Given the description of an element on the screen output the (x, y) to click on. 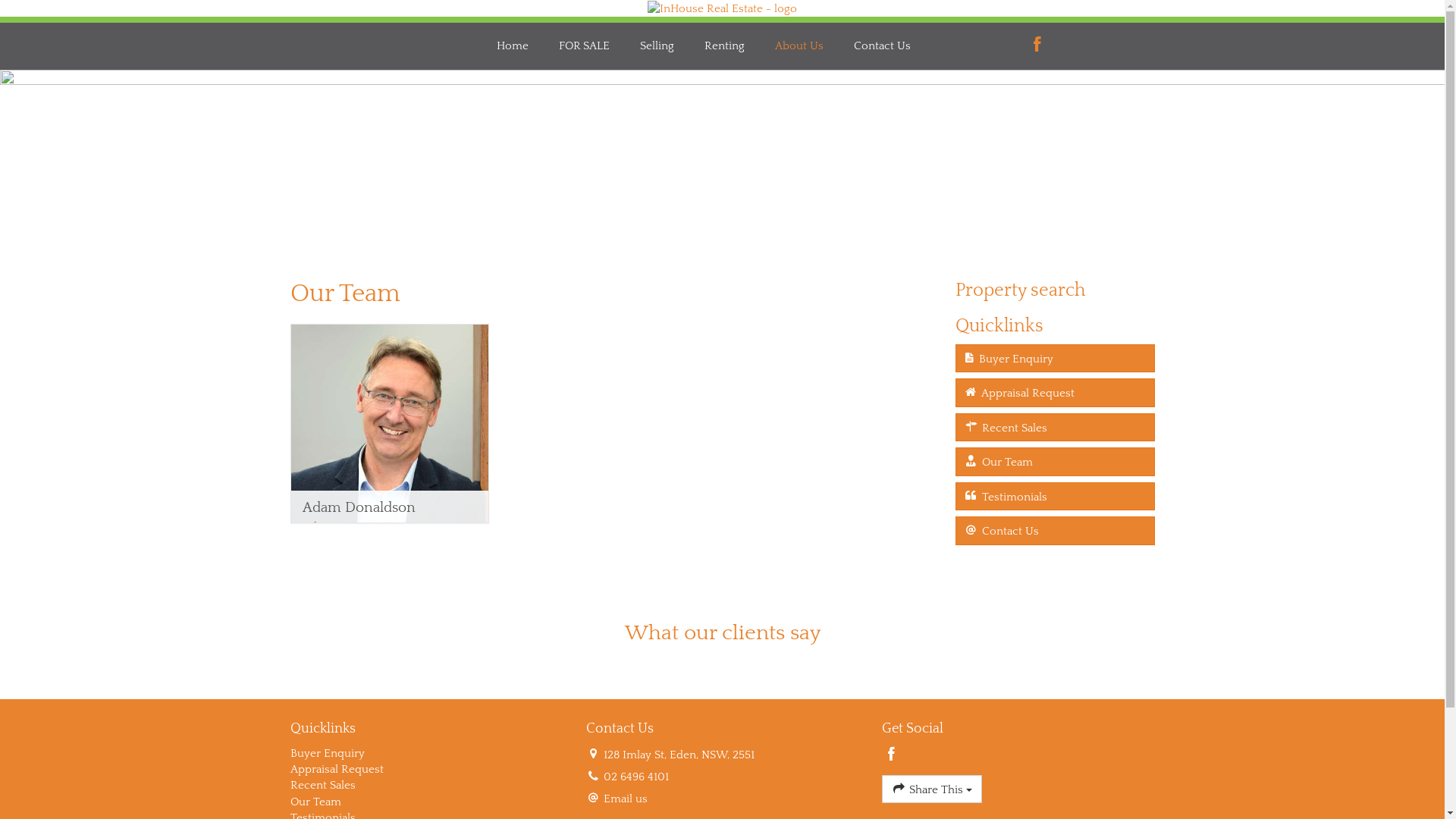
Our Team Element type: text (425, 801)
Buyer Enquiry Element type: text (1054, 358)
Home Element type: text (512, 45)
About Us Element type: text (798, 45)
Selling Element type: text (656, 45)
Adam Donaldson Element type: hover (389, 422)
Email us Element type: text (625, 798)
Renting Element type: text (724, 45)
Contact Us Element type: text (881, 45)
Our Team Element type: text (1054, 461)
Share This Element type: text (931, 789)
Recent Sales Element type: text (1054, 427)
Testimonials Element type: text (1054, 496)
Appraisal Request Element type: text (425, 769)
Appraisal Request Element type: text (1054, 392)
Recent Sales Element type: text (425, 785)
Buyer Enquiry Element type: text (425, 753)
Contact Us Element type: text (1054, 530)
FOR SALE Element type: text (583, 45)
InHouse Real Estate Element type: hover (722, 7)
